Given the description of an element on the screen output the (x, y) to click on. 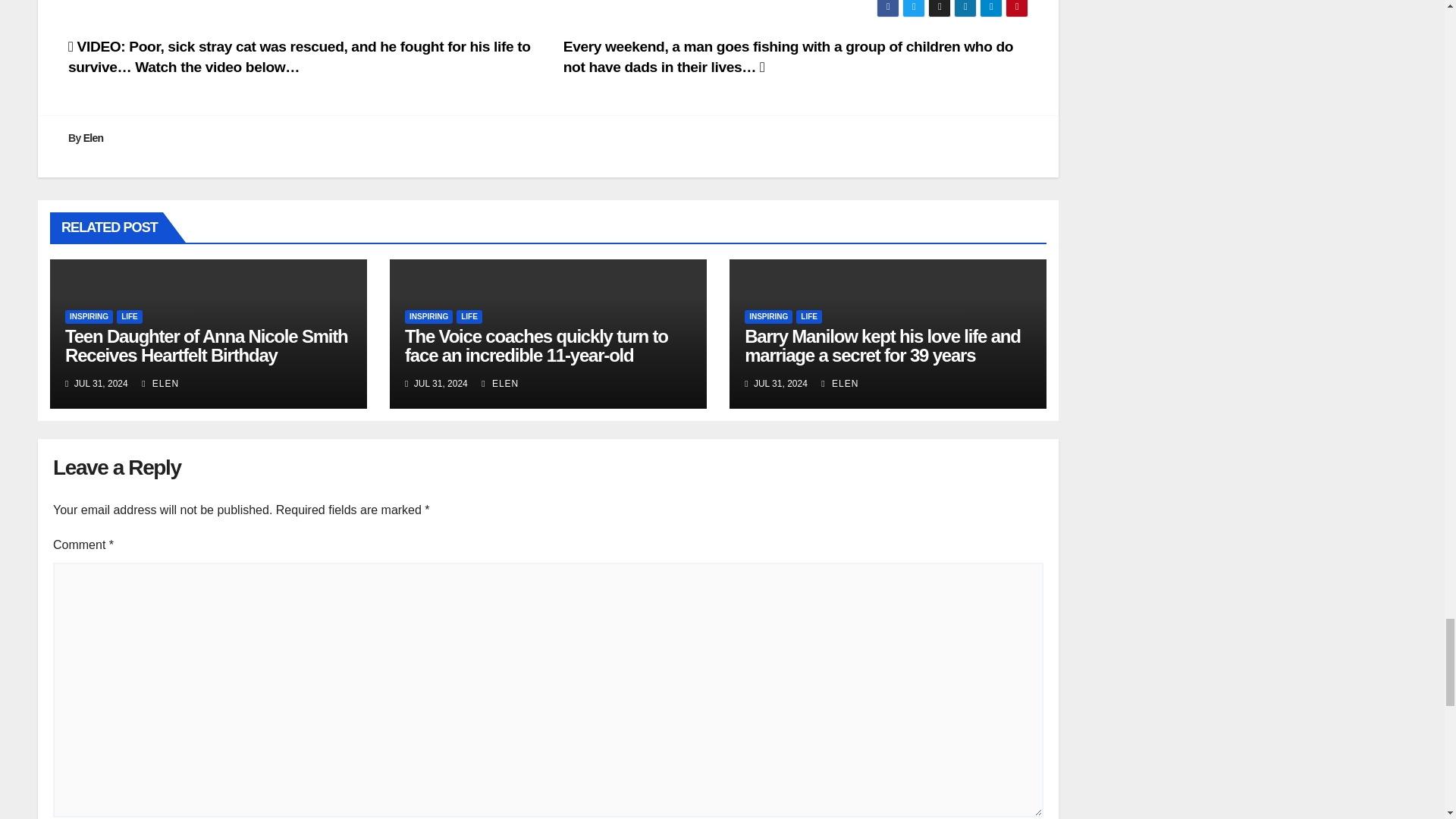
INSPIRING (428, 316)
INSPIRING (89, 316)
ELEN (840, 383)
Elen (92, 137)
LIFE (129, 316)
ELEN (160, 383)
LIFE (469, 316)
LIFE (809, 316)
INSPIRING (768, 316)
ELEN (499, 383)
